Given the description of an element on the screen output the (x, y) to click on. 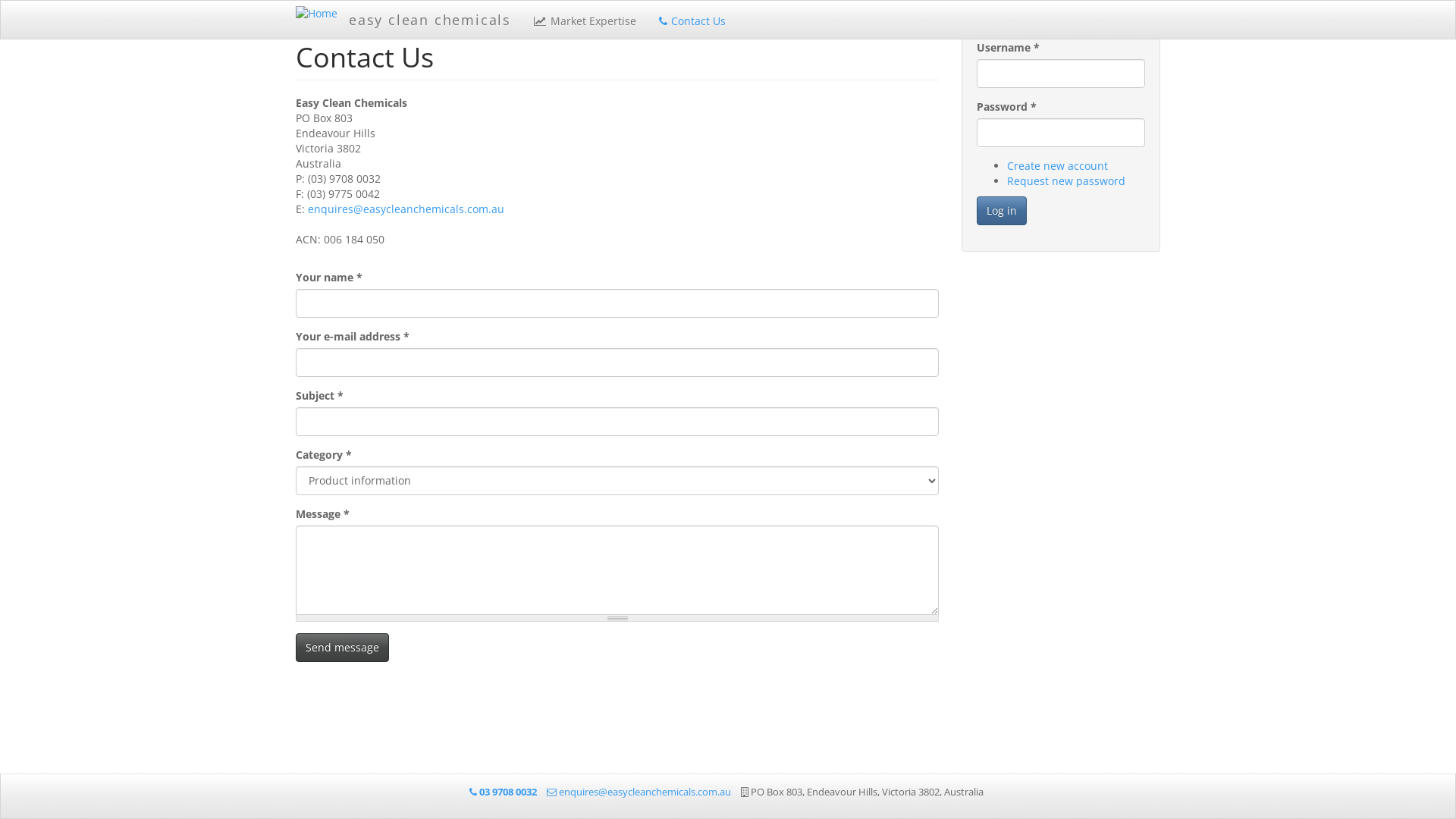
enquires@easycleanchemicals.com.au Element type: text (638, 791)
Market Expertise Element type: text (584, 19)
Home Element type: hover (321, 13)
enquires@easycleanchemicals.com.au Element type: text (405, 208)
Contact Us Element type: text (692, 19)
Log in Element type: text (1001, 210)
Request new password Element type: text (1066, 180)
easy clean chemicals Element type: text (429, 19)
Home Element type: text (321, 13)
Create new account Element type: text (1057, 165)
03 9708 0032 Element type: text (502, 791)
Send message Element type: text (342, 647)
Skip to main content Element type: text (0, 0)
